Given the description of an element on the screen output the (x, y) to click on. 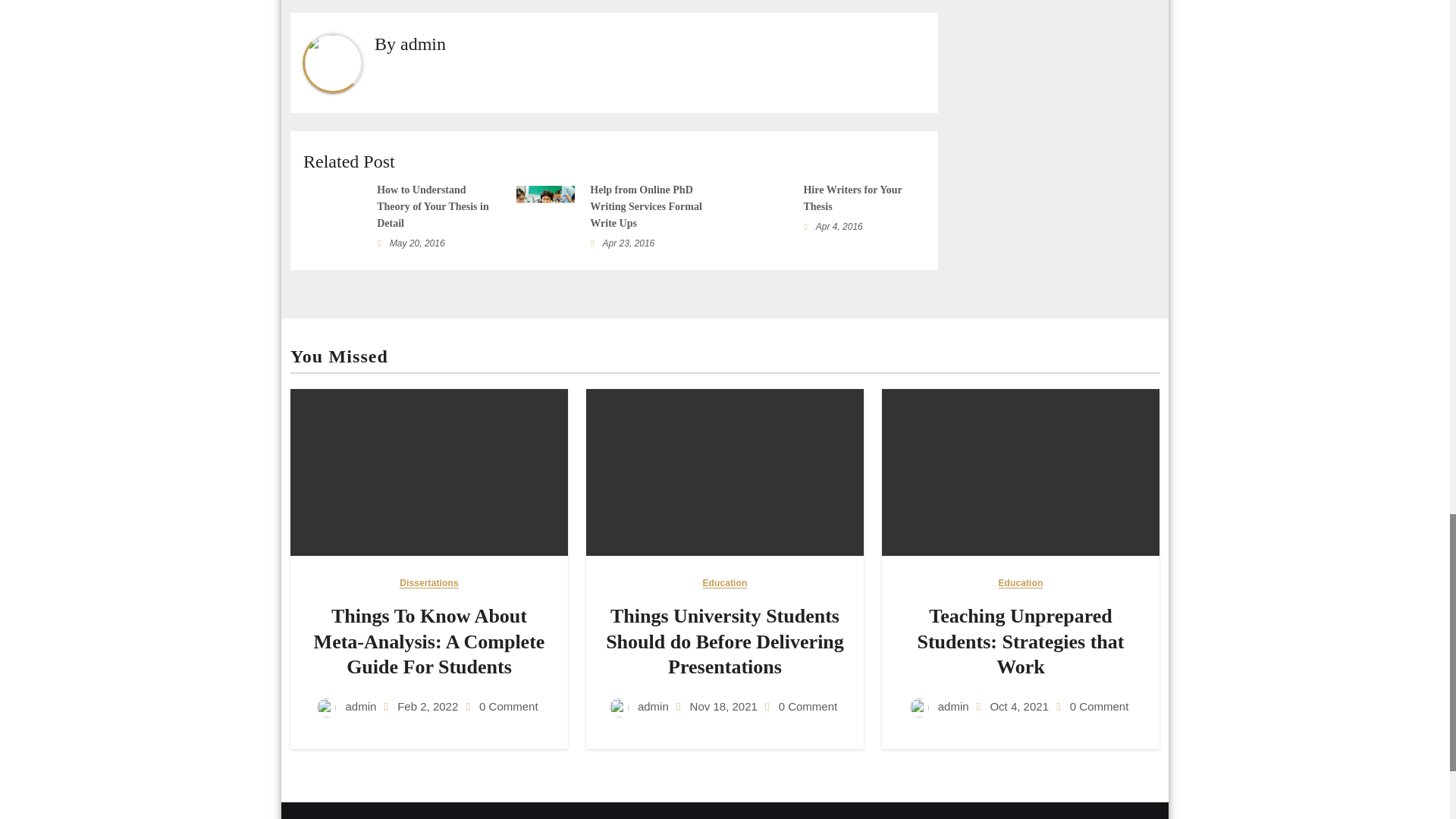
Permalink to: Hire Writers for Your Thesis (852, 198)
